Given the description of an element on the screen output the (x, y) to click on. 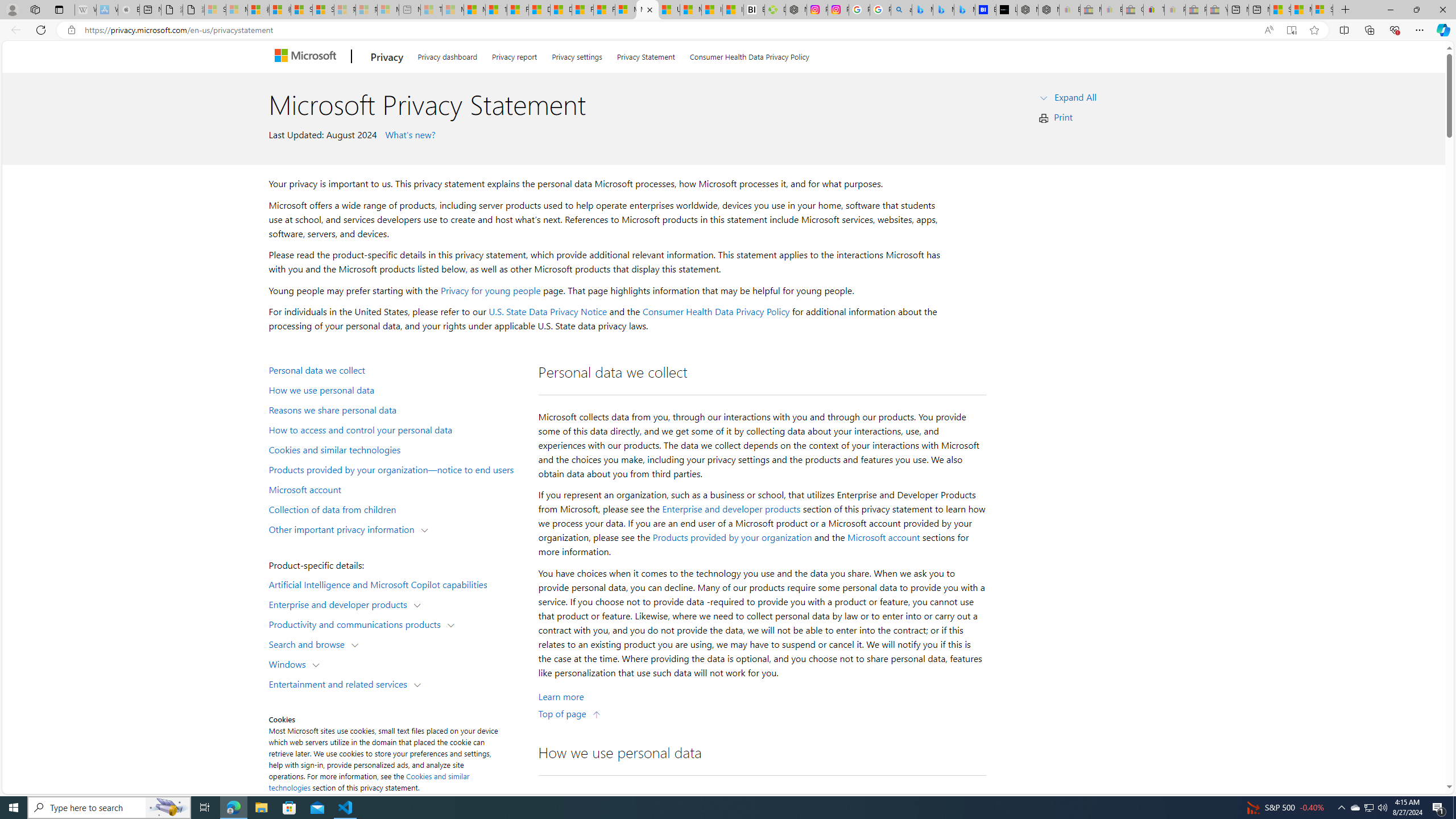
Payments Terms of Use | eBay.com - Sleeping (1174, 9)
Top of page (569, 713)
Microsoft (306, 56)
Press Room - eBay Inc. - Sleeping (1195, 9)
Reasons we share personal data (395, 409)
Personal data we collect (395, 368)
Top Stories - MSN - Sleeping (431, 9)
Consumer Health Data Privacy Policy (716, 311)
Foo BAR | Trusted Community Engagement and Contributions (604, 9)
Enter Immersive Reader (F9) (1291, 29)
